Given the description of an element on the screen output the (x, y) to click on. 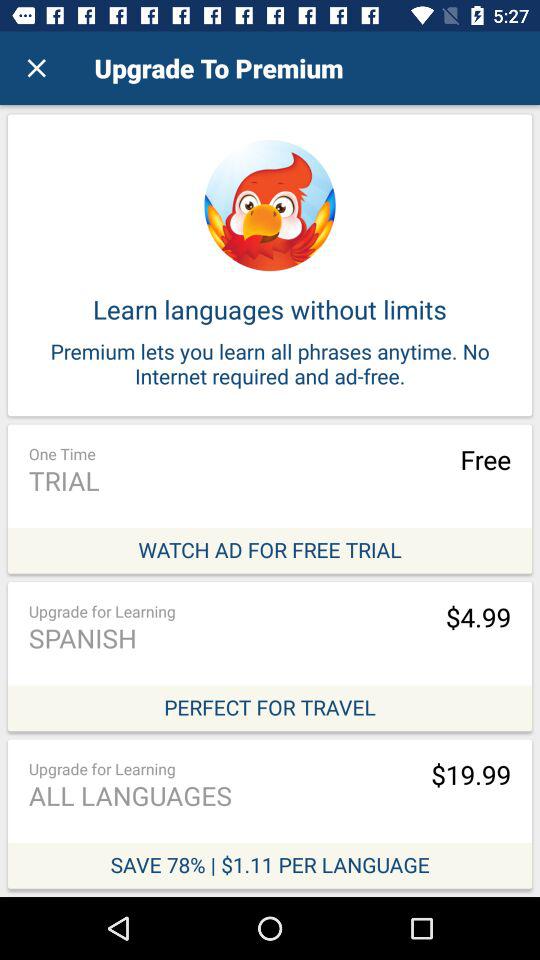
click on all languages option (269, 813)
click on watch ad for free trial (269, 498)
choose the second option (269, 656)
